Given the description of an element on the screen output the (x, y) to click on. 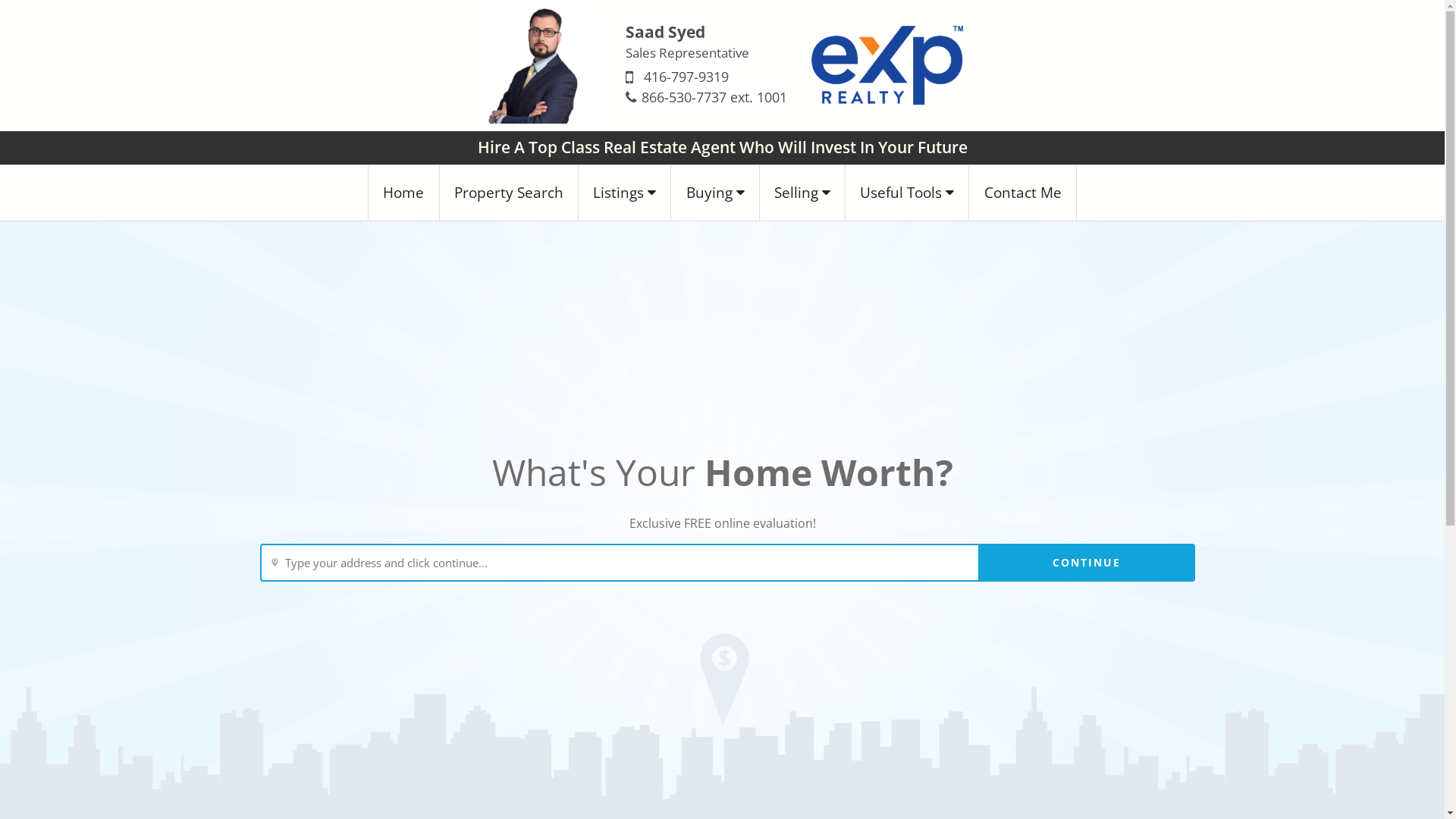
416-797-9319 Element type: text (685, 76)
Useful Tools Element type: text (907, 192)
Contact Me Element type: text (1022, 192)
866-530-7737 ext. 1001 Element type: text (714, 96)
Home Element type: text (403, 192)
Buying Element type: text (715, 192)
Listings Element type: text (624, 192)
Property Search Element type: text (508, 192)
Selling Element type: text (802, 192)
